Given the description of an element on the screen output the (x, y) to click on. 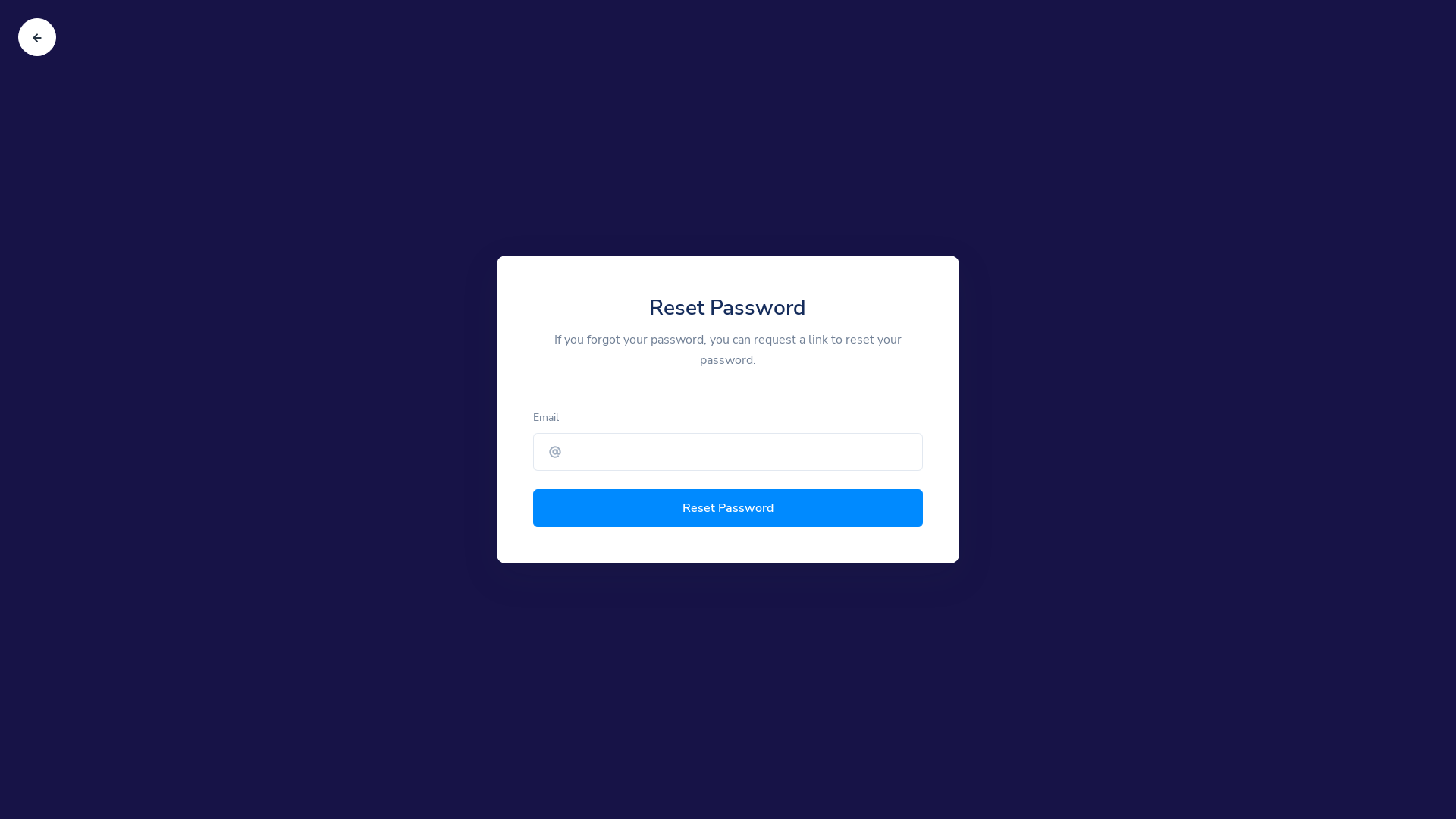
Reset Password Element type: text (727, 508)
